Given the description of an element on the screen output the (x, y) to click on. 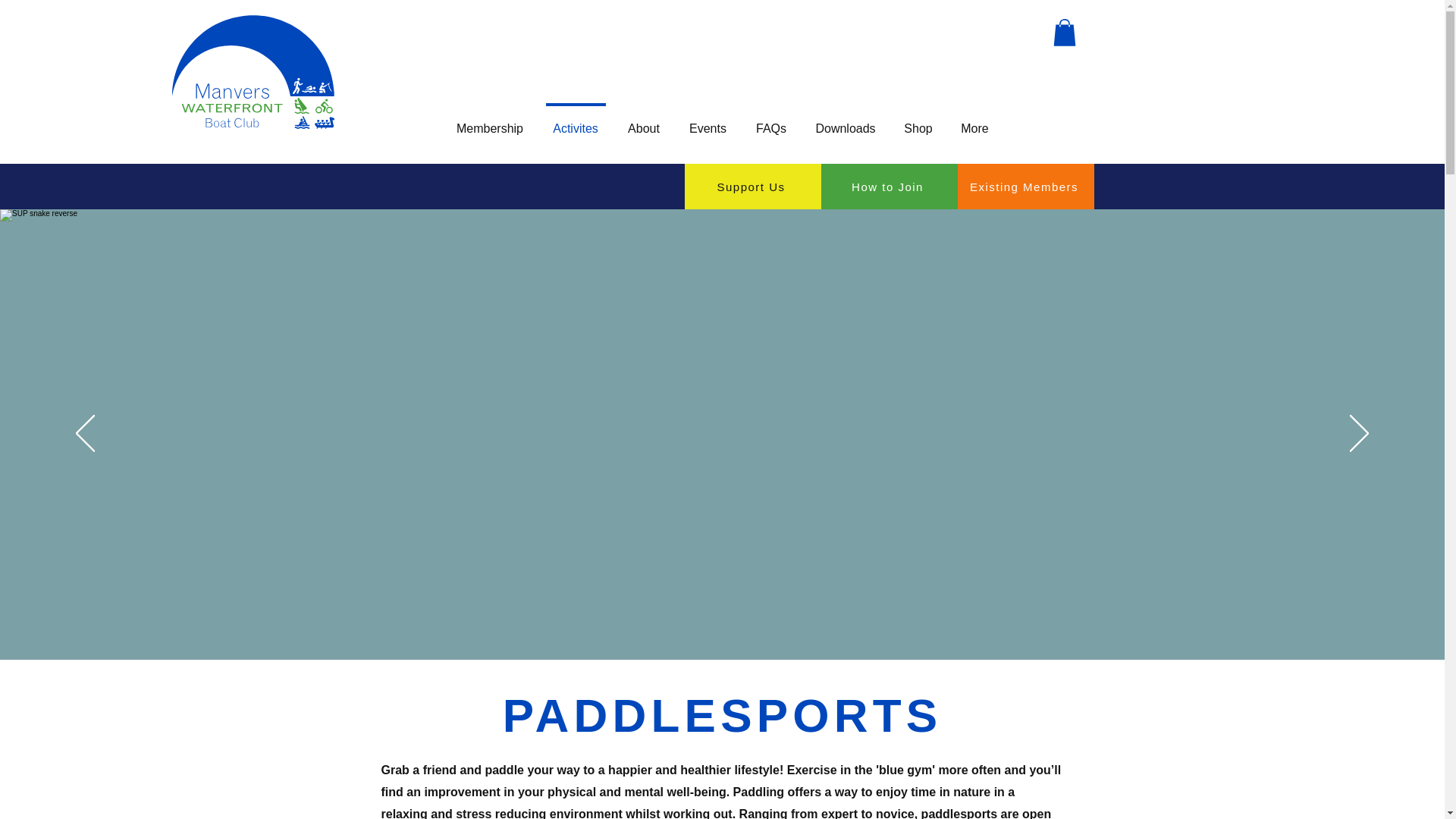
Activites (575, 121)
Downloads (844, 121)
Support Us (752, 186)
Events (708, 121)
Shop (918, 121)
About (643, 121)
FAQs (771, 121)
Existing Members (1024, 186)
How to Join (888, 186)
Membership (489, 121)
